Given the description of an element on the screen output the (x, y) to click on. 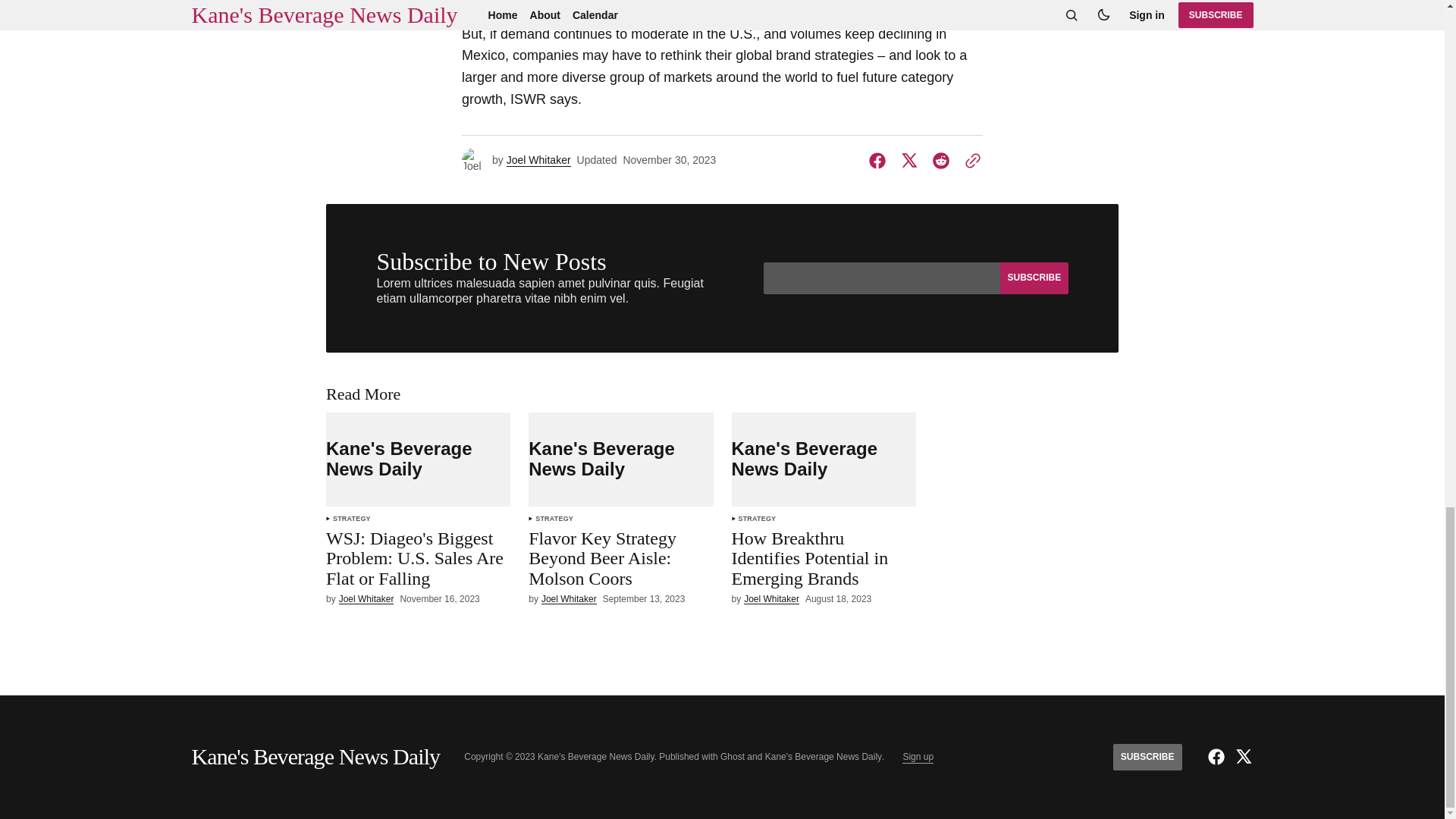
STRATEGY (352, 518)
Joel Whitaker (366, 599)
Joel Whitaker (568, 599)
STRATEGY (554, 518)
Flavor Key Strategy Beyond Beer Aisle: Molson Coors (620, 561)
Kane's Beverage News Daily (620, 459)
SUBSCRIBE (1032, 278)
Kane's Beverage News Daily (418, 459)
Joel Whitaker (538, 160)
